Given the description of an element on the screen output the (x, y) to click on. 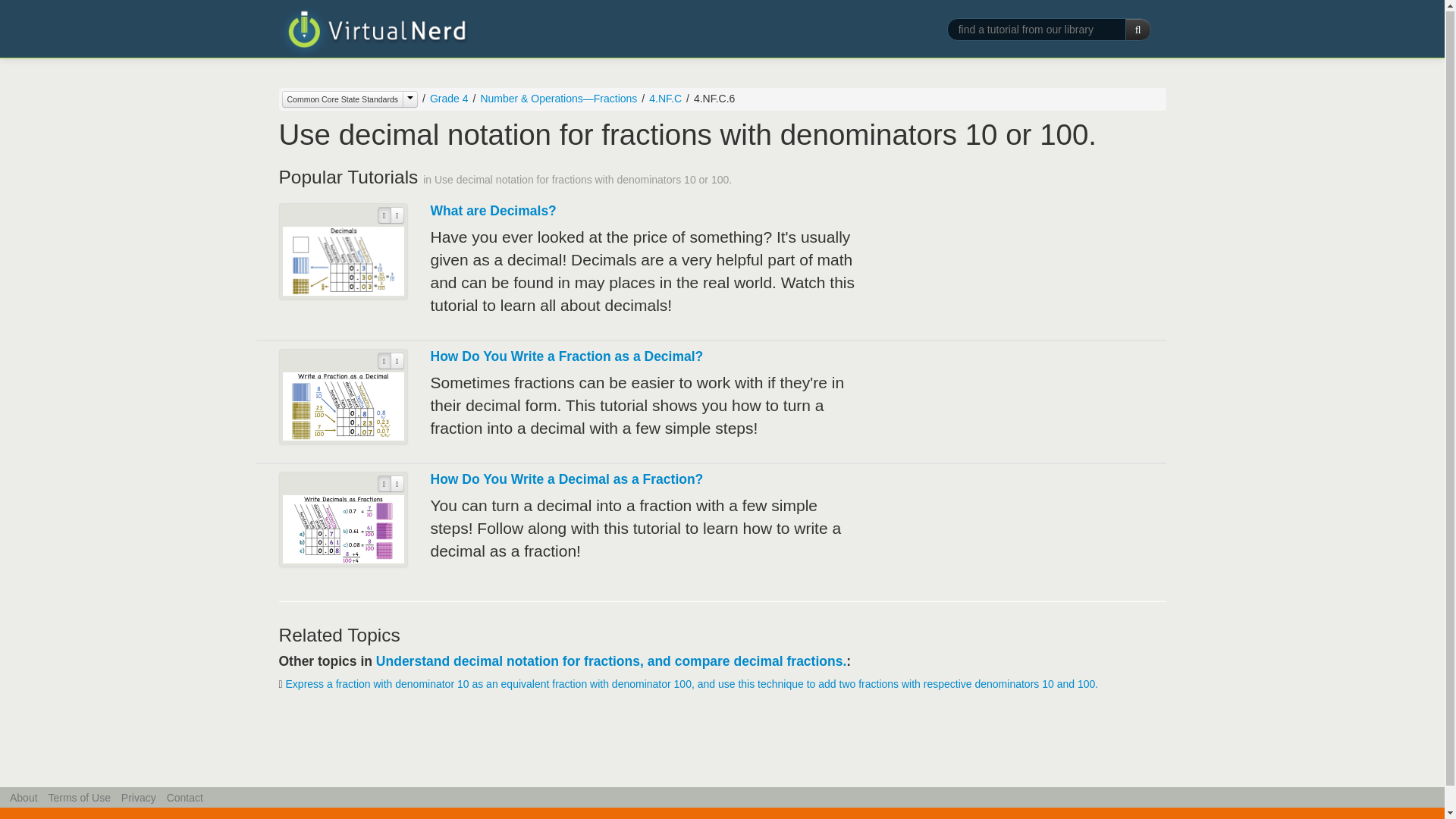
4.NF.C (665, 98)
How Do You Write a Decimal as a Fraction? (566, 478)
Grade 4 (442, 98)
Terms of Use (79, 797)
About (23, 797)
Virtual Nerd (373, 31)
What are Decimals? (493, 210)
Contact (185, 797)
Common Core State Standards (343, 98)
Common Core State Standards (350, 98)
Grade 4 (448, 98)
